Given the description of an element on the screen output the (x, y) to click on. 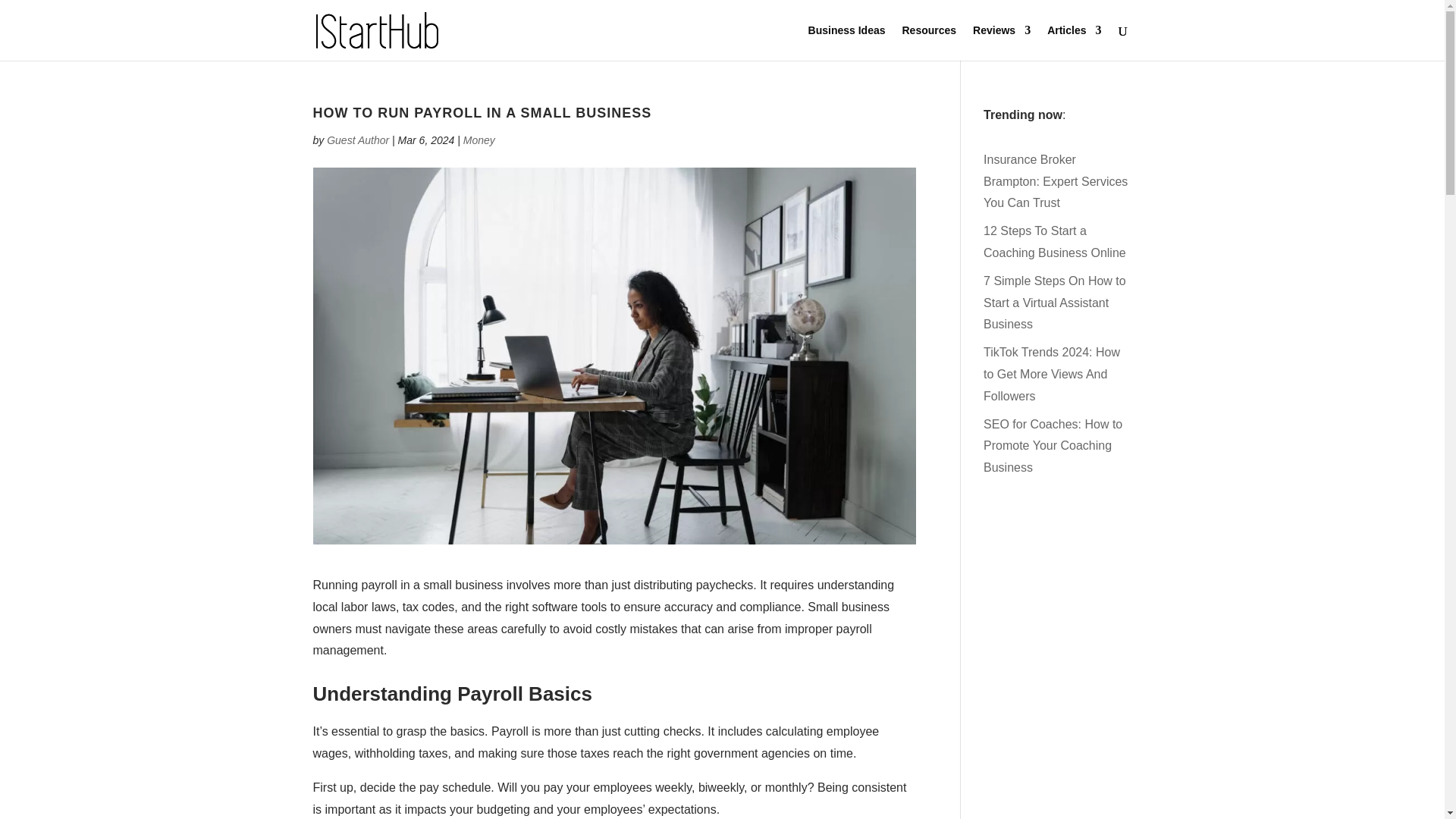
Resources (929, 42)
Guest Author (357, 140)
Business Ideas (846, 42)
Posts by Guest Author (357, 140)
Articles (1073, 42)
Money (479, 140)
Reviews (1001, 42)
